Given the description of an element on the screen output the (x, y) to click on. 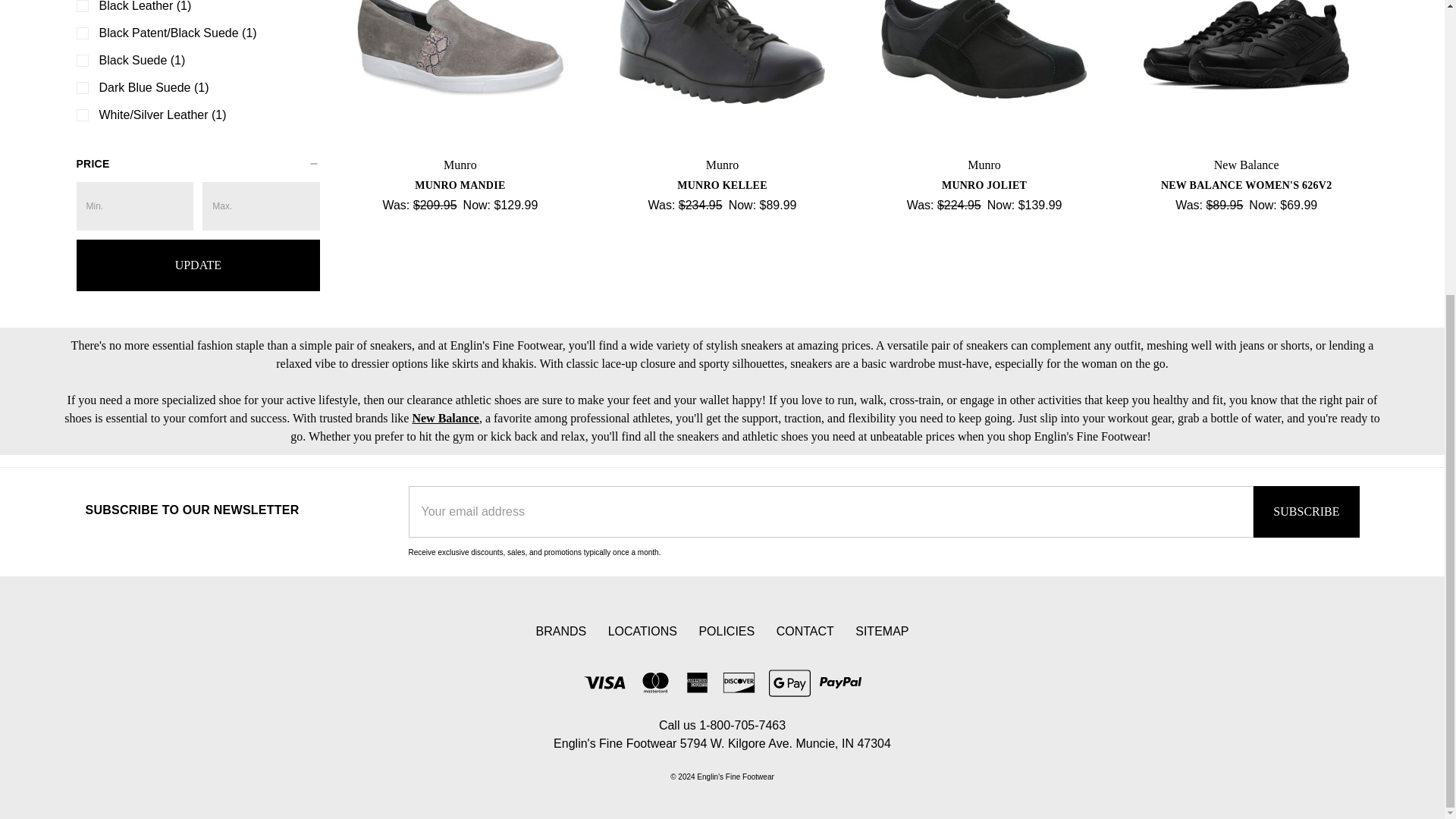
Black Leather (722, 74)
Subscribe (1305, 511)
Black (1245, 74)
Ash Grey Suede (459, 74)
